Given the description of an element on the screen output the (x, y) to click on. 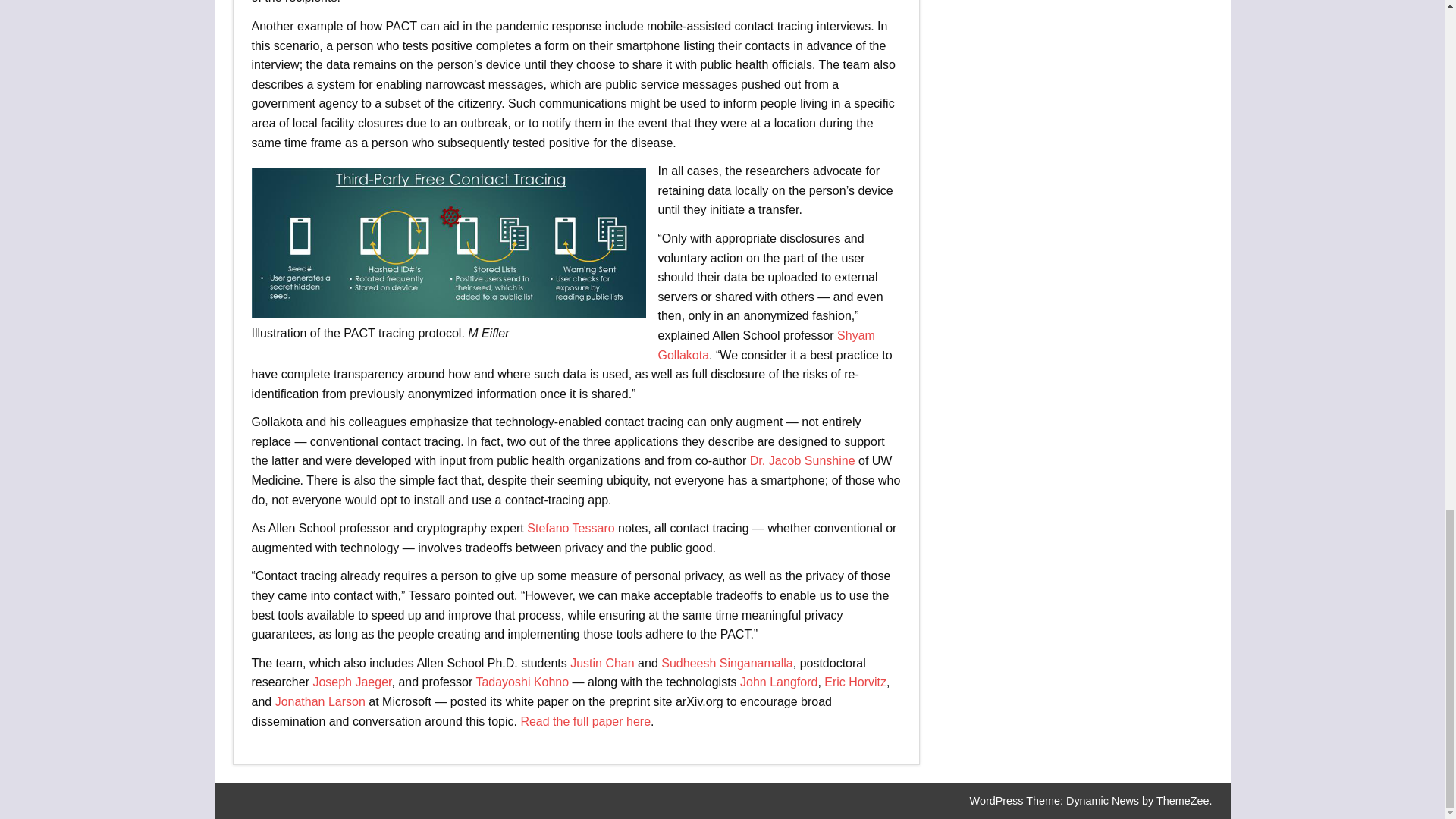
Dr. Jacob Sunshine (802, 460)
Read the full paper here (584, 721)
Jonathan Larson (320, 701)
Justin Chan (602, 662)
Joseph Jaeger (352, 681)
Sudheesh Singanamalla (726, 662)
Tadayoshi Kohno (522, 681)
Stefano Tessaro (570, 527)
Eric Horvitz (855, 681)
Shyam Gollakota (766, 345)
John Langford (777, 681)
